Given the description of an element on the screen output the (x, y) to click on. 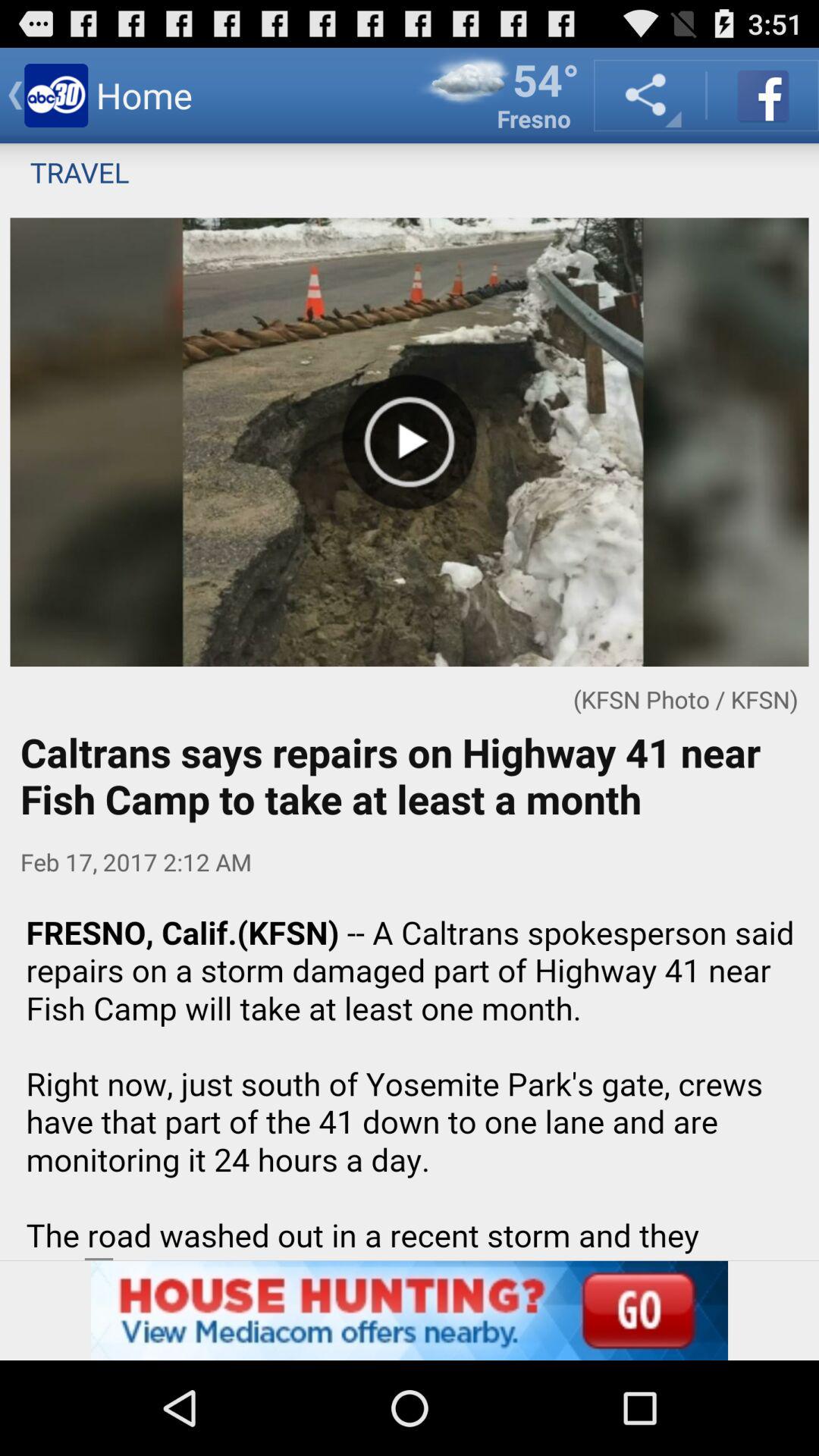
go to advertising (409, 1310)
